Given the description of an element on the screen output the (x, y) to click on. 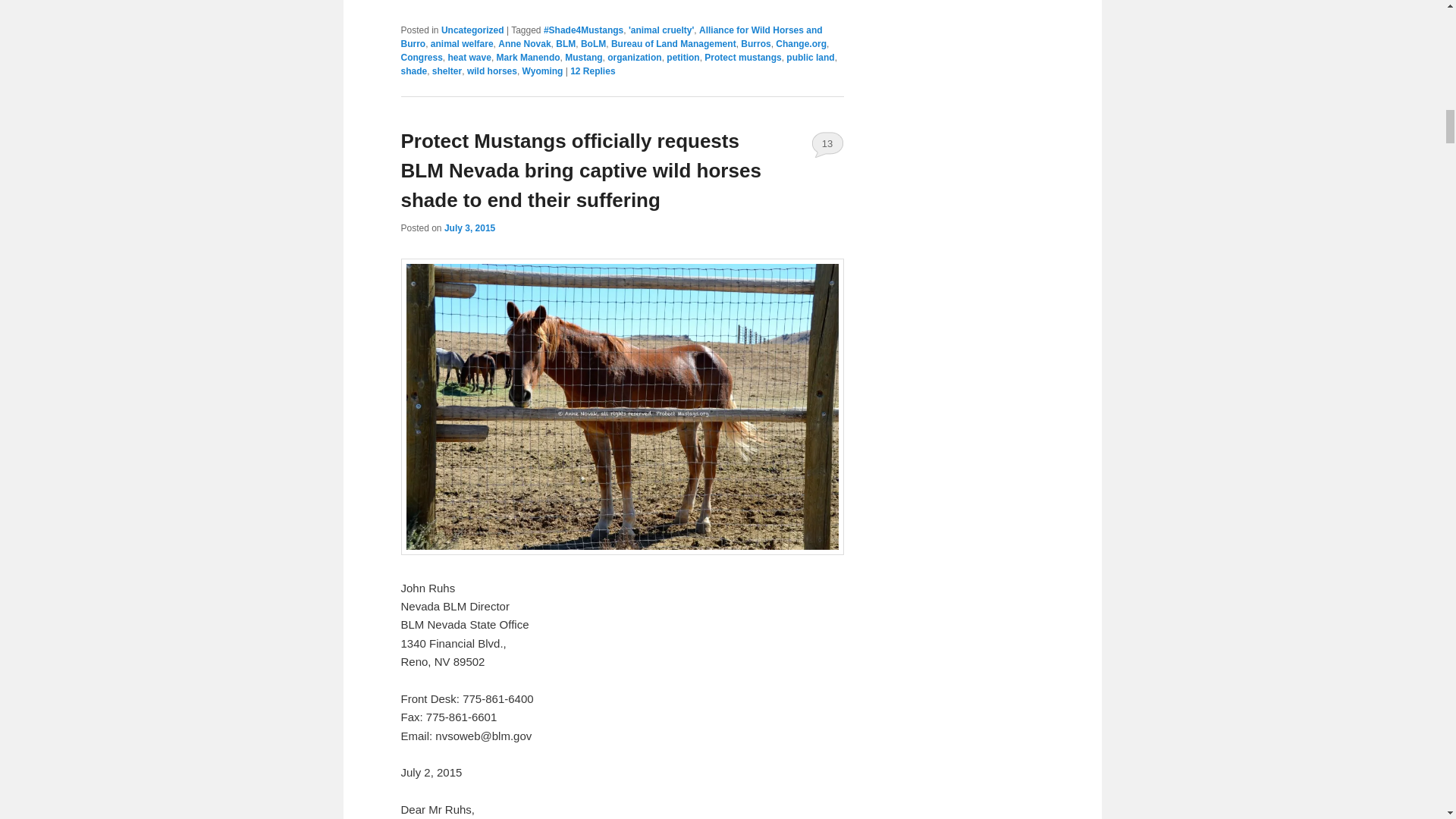
'animal cruelty' (661, 30)
11:06 am (469, 227)
animal welfare (461, 43)
Uncategorized (472, 30)
Alliance for Wild Horses and Burro (611, 37)
